Given the description of an element on the screen output the (x, y) to click on. 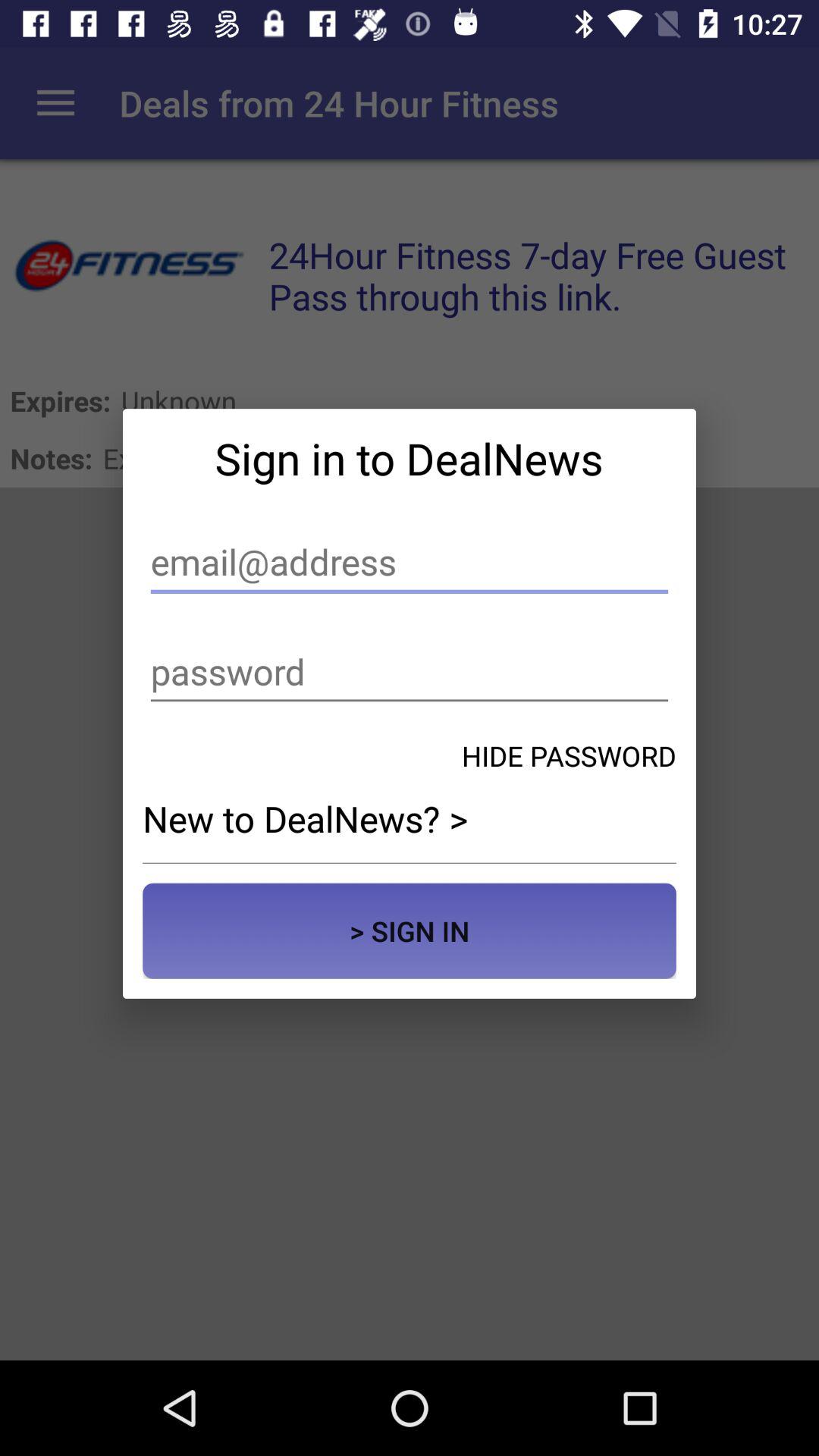
enter email (409, 562)
